Given the description of an element on the screen output the (x, y) to click on. 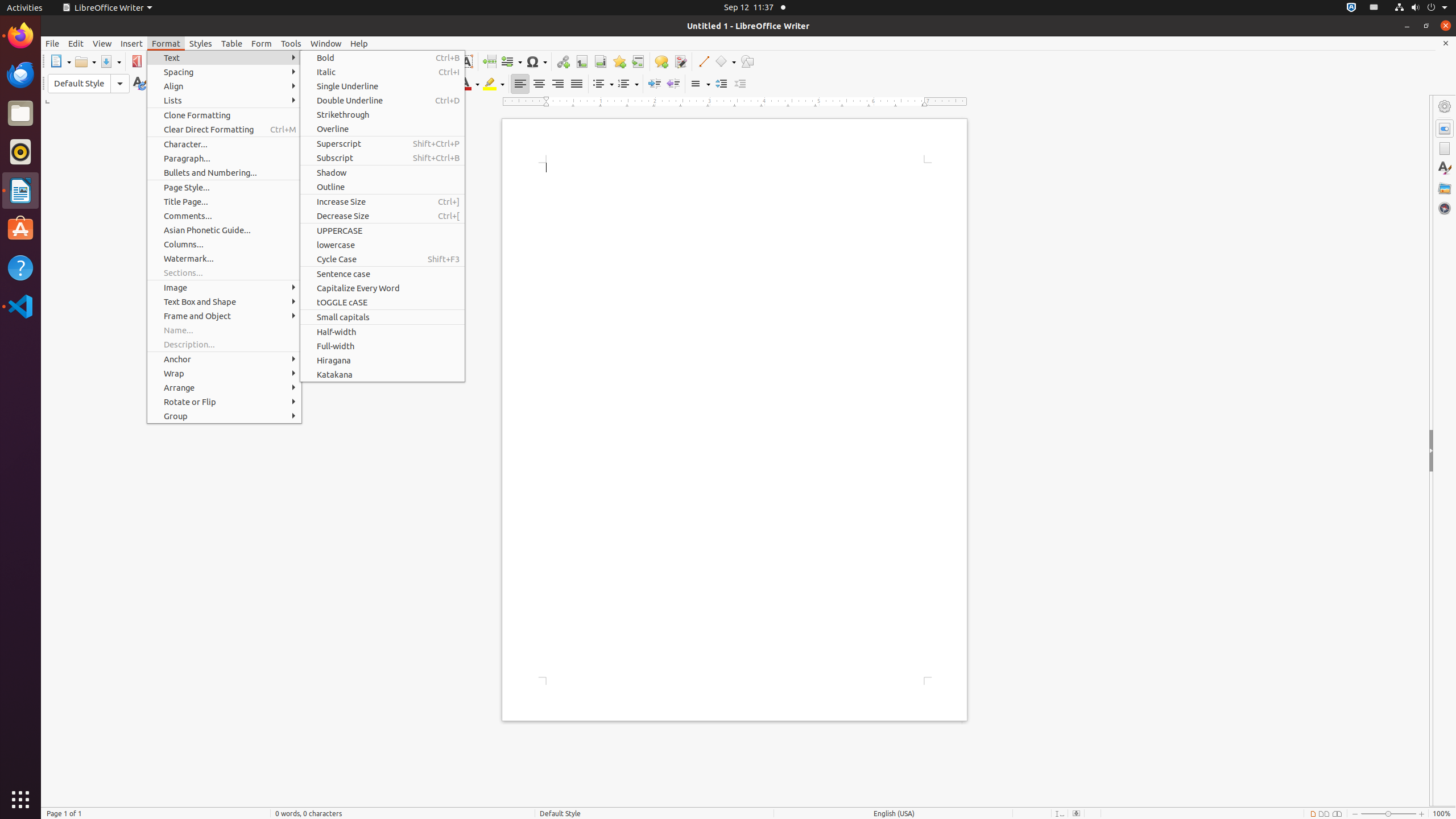
Styles Element type: menu (200, 43)
LibreOffice Writer Element type: menu (106, 7)
Bullets and Numbering... Element type: menu-item (224, 172)
Open Element type: push-button (84, 61)
Highlight Color Element type: push-button (493, 83)
